Given the description of an element on the screen output the (x, y) to click on. 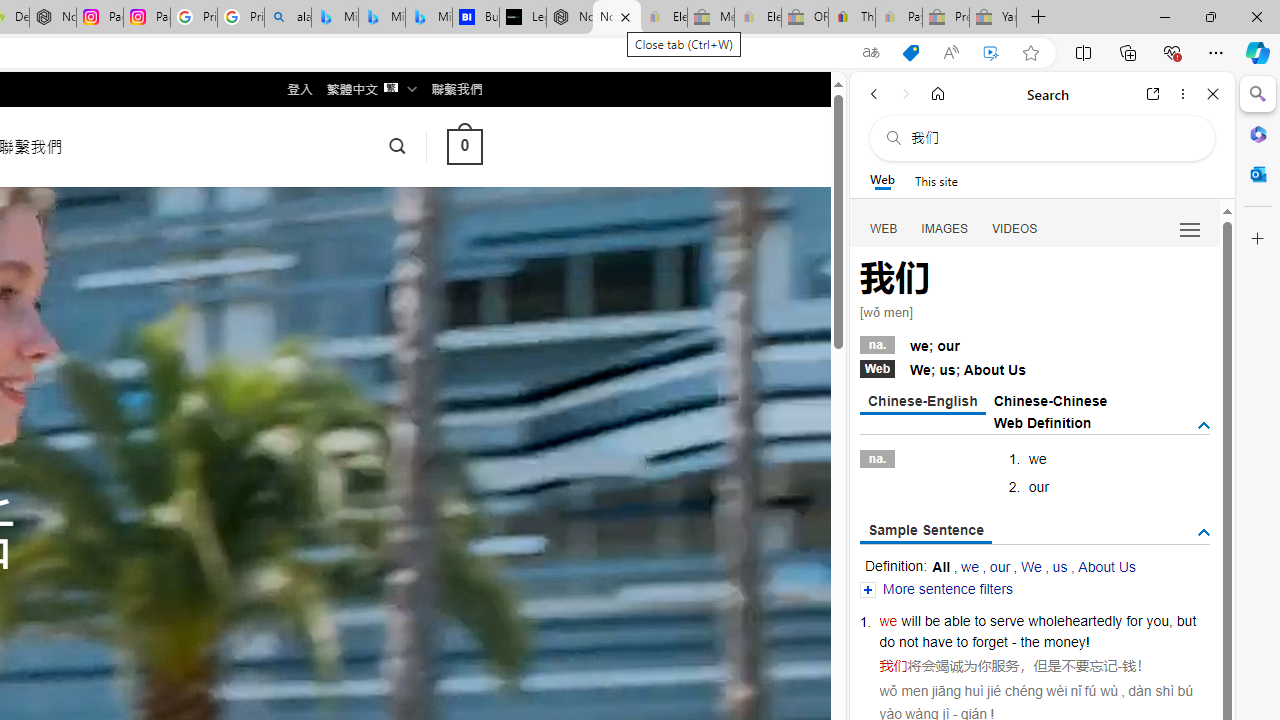
Payments Terms of Use | eBay.com - Sleeping (898, 17)
This site has coupons! Shopping in Microsoft Edge (910, 53)
Threats and offensive language policy | eBay (852, 17)
wholeheartedly (1074, 620)
alabama high school quarterback dies - Search (288, 17)
Press Room - eBay Inc. - Sleeping (945, 17)
AutomationID: tgdef (1203, 425)
